Given the description of an element on the screen output the (x, y) to click on. 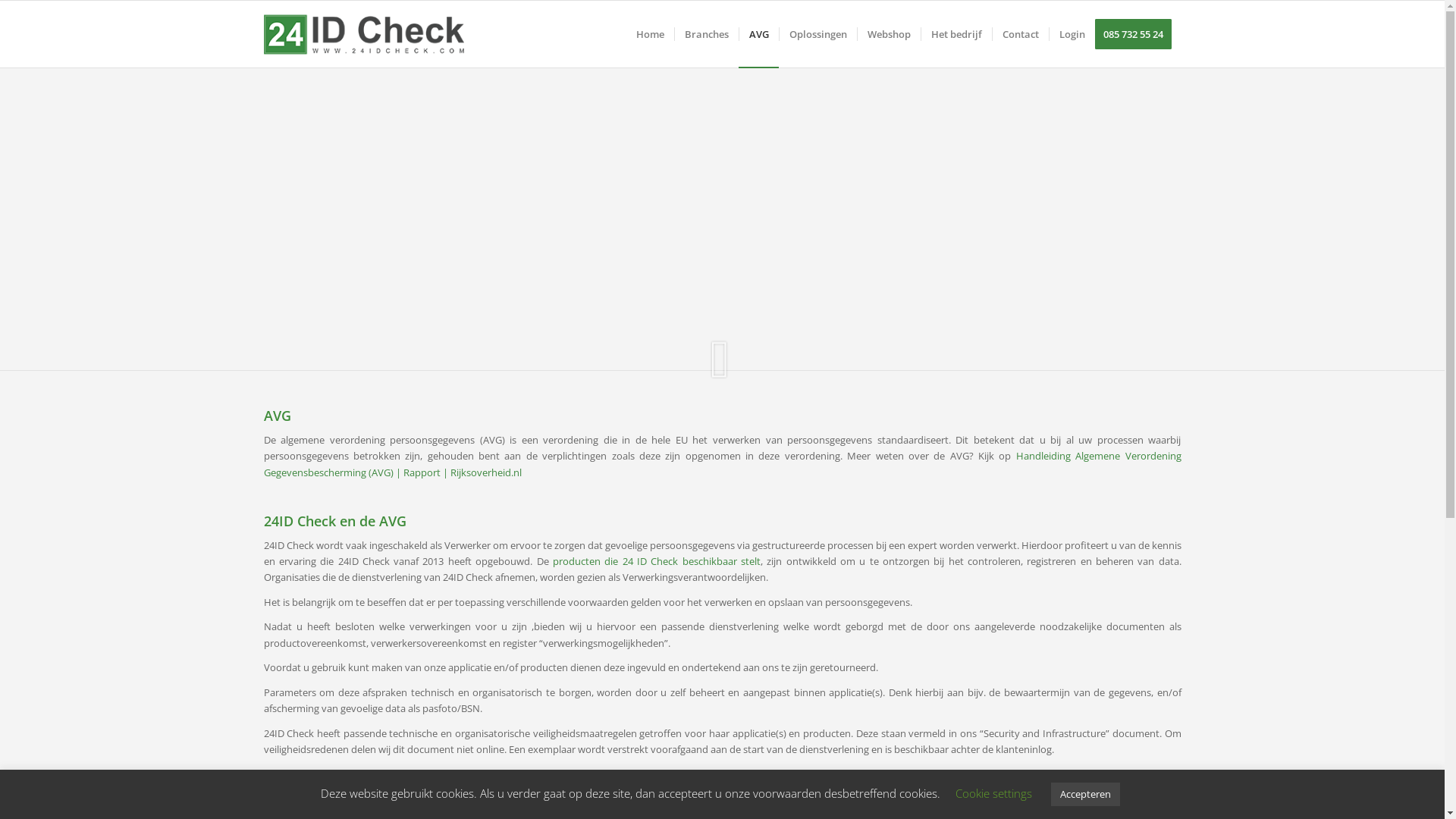
Accepteren Element type: text (1085, 794)
Het bedrijf Element type: text (955, 33)
Oplossingen Element type: text (817, 33)
Home Element type: text (650, 33)
producten die 24 ID Check beschikbaar stelt Element type: text (656, 560)
Branches Element type: text (705, 33)
Cookie settings Element type: text (993, 792)
AVG Element type: text (758, 33)
Login Element type: text (1071, 33)
085 732 55 24 Element type: text (1138, 33)
Contact Element type: text (1019, 33)
Webshop Element type: text (888, 33)
